Given the description of an element on the screen output the (x, y) to click on. 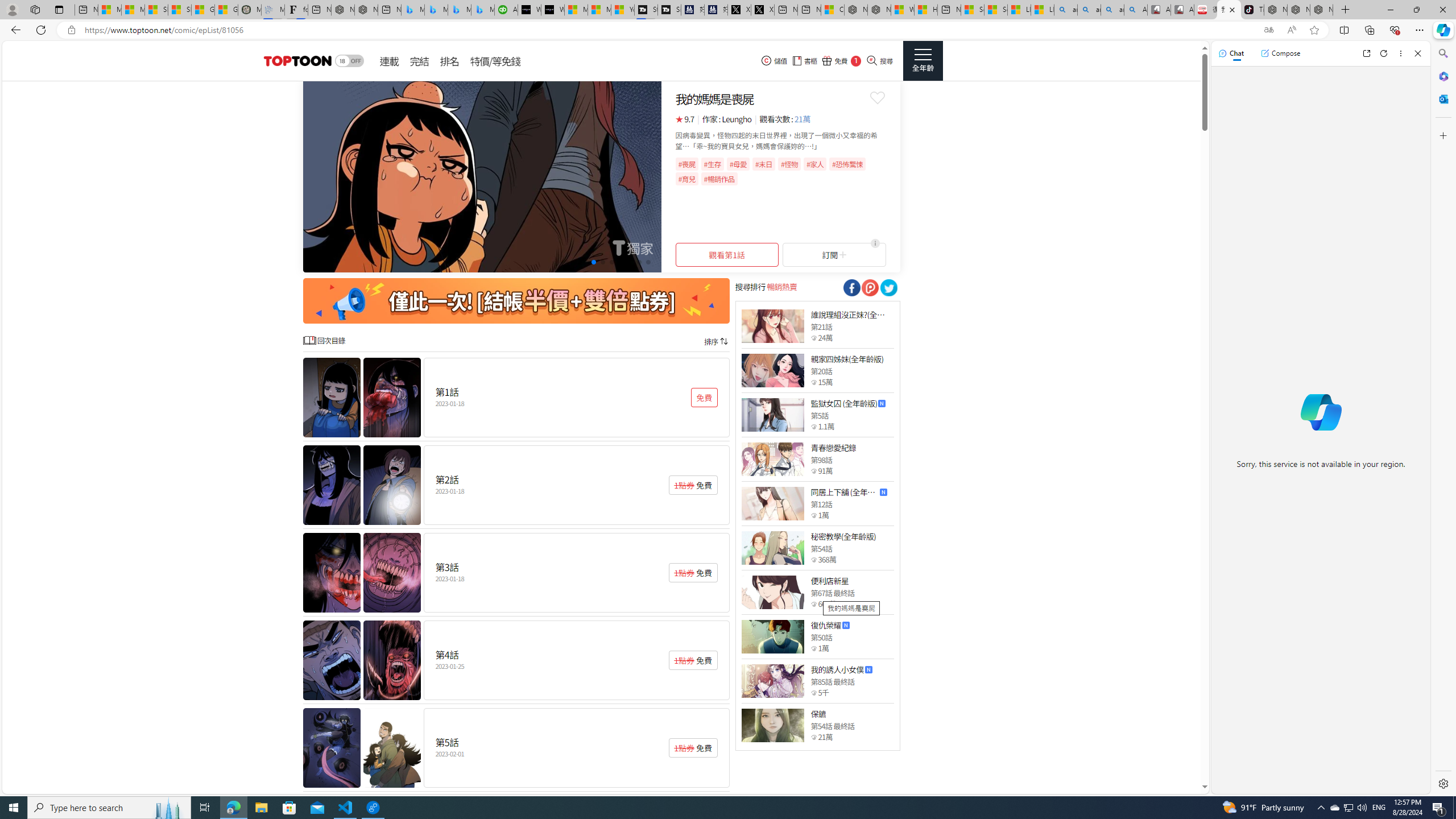
Settings and more (Alt+F) (1419, 29)
Accounting Software for Accountants, CPAs and Bookkeepers (505, 9)
Personal Profile (12, 9)
TikTok (1252, 9)
Customize (1442, 135)
Tab actions menu (58, 9)
